Given the description of an element on the screen output the (x, y) to click on. 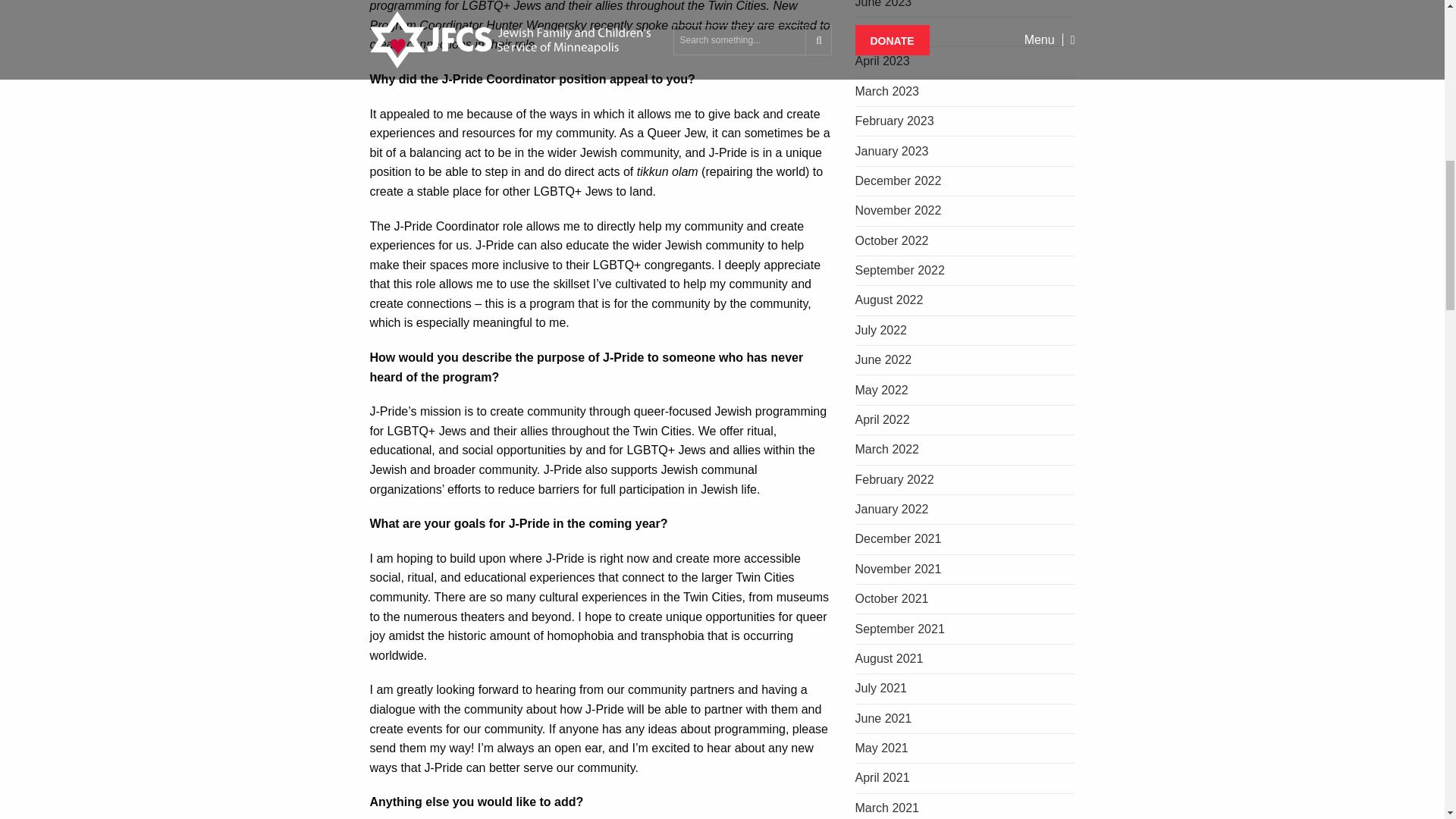
September 2022 (965, 270)
March 2023 (965, 91)
January 2023 (965, 151)
November 2022 (965, 211)
February 2022 (965, 480)
July 2022 (965, 330)
May 2023 (965, 31)
June 2022 (965, 360)
August 2022 (965, 300)
December 2022 (965, 181)
April 2022 (965, 419)
June 2023 (965, 8)
February 2023 (965, 121)
May 2022 (965, 389)
October 2022 (965, 241)
